Given the description of an element on the screen output the (x, y) to click on. 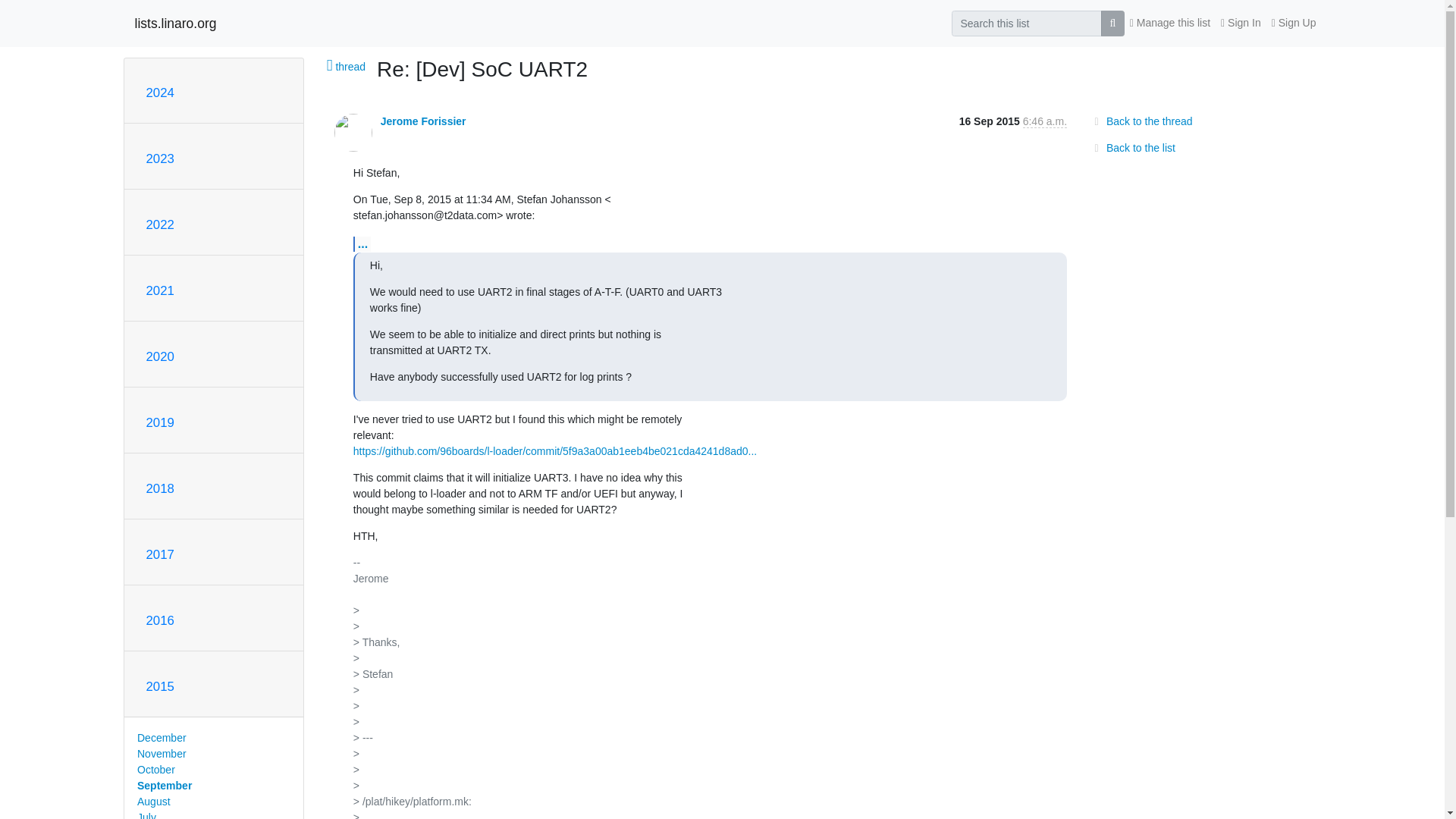
2023 (159, 158)
Sign In (1240, 22)
See the profile for Jerome Forissier (422, 121)
lists.linaro.org (175, 22)
2024 (159, 92)
Sender's time: Sept. 16, 2015, 8:46 a.m. (1045, 121)
2022 (159, 224)
Sign Up (1294, 22)
Manage this list (1169, 22)
